Given the description of an element on the screen output the (x, y) to click on. 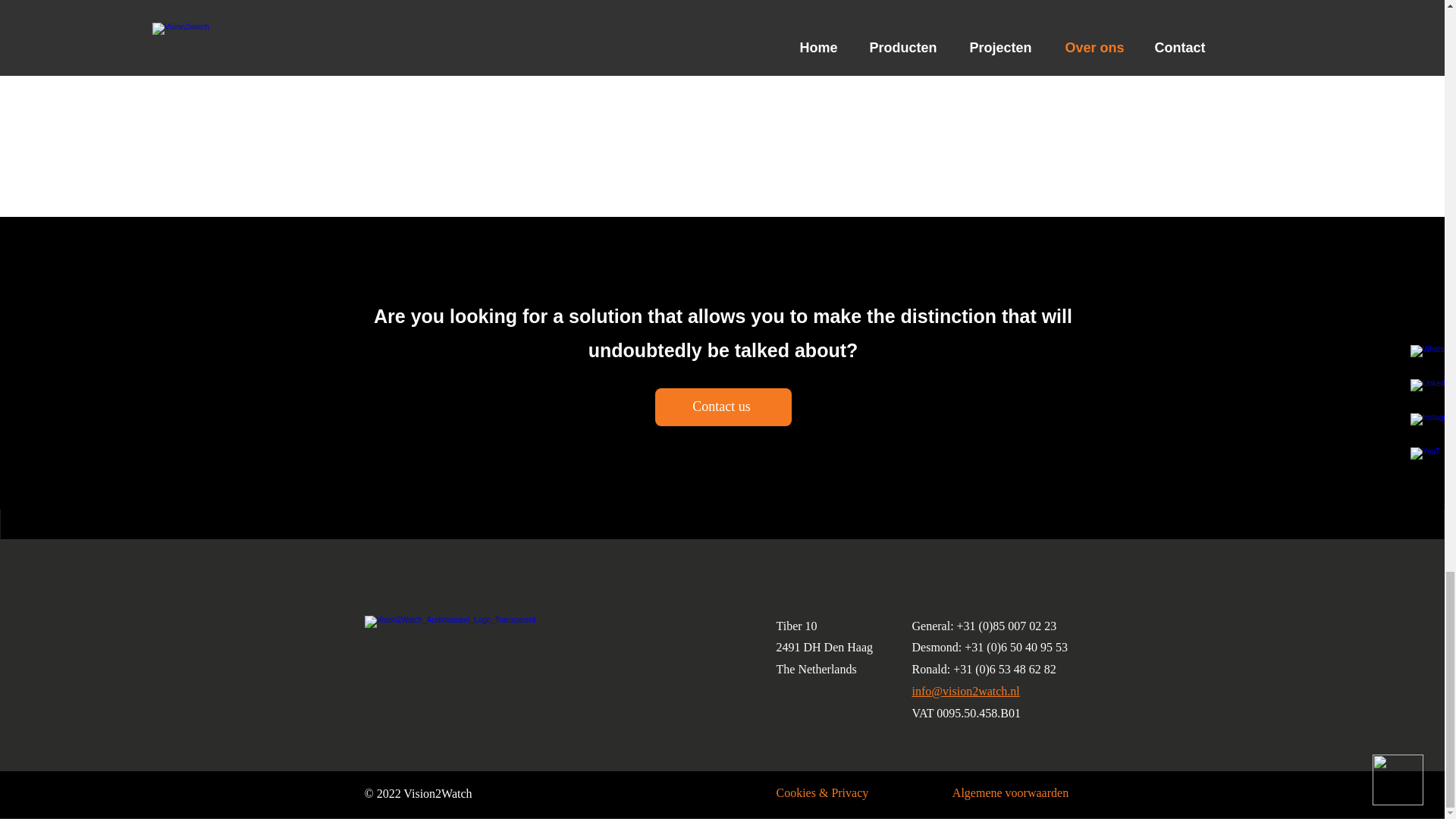
Homepage Vision2Watch Audivisueel (470, 627)
